Given the description of an element on the screen output the (x, y) to click on. 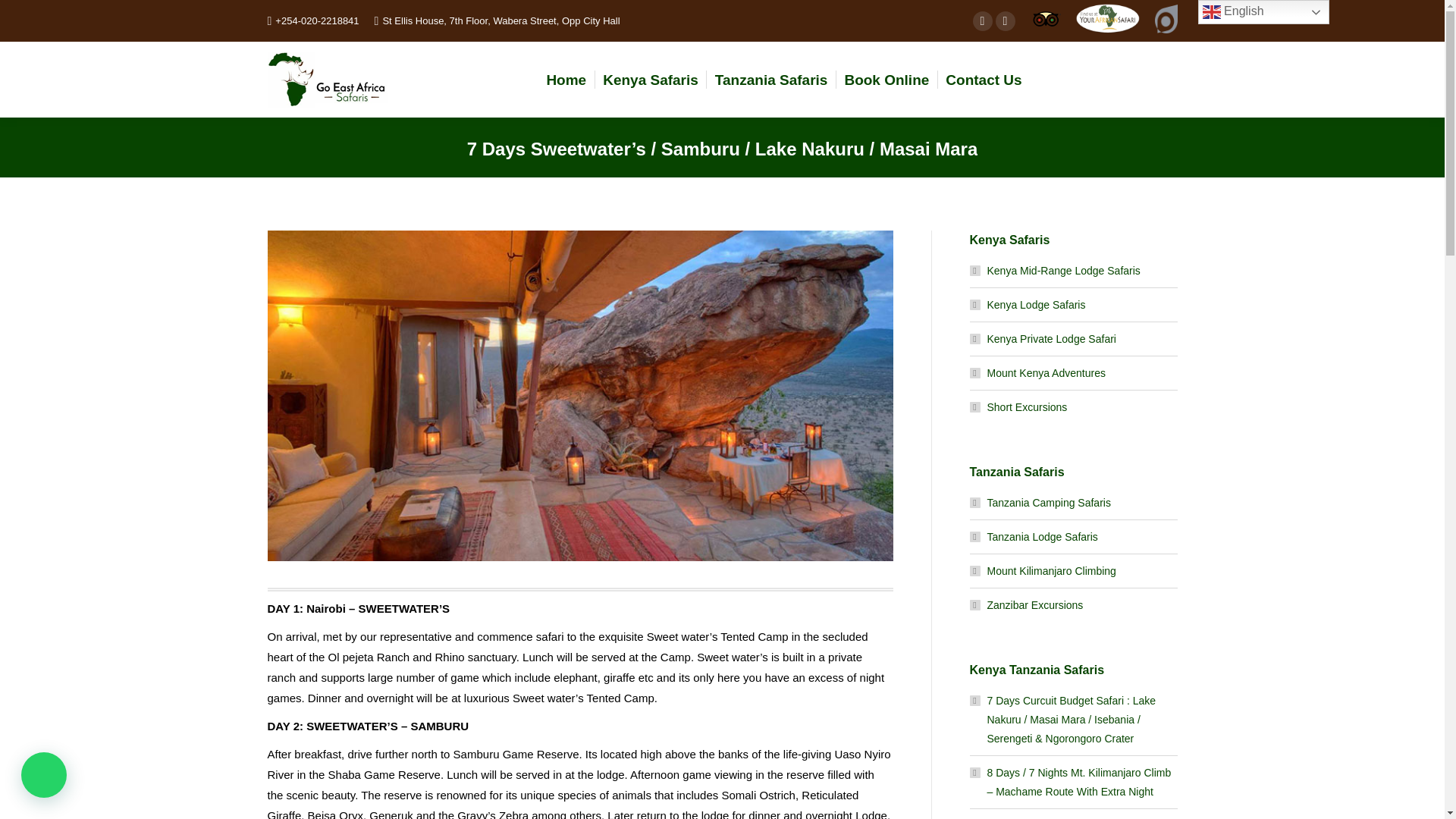
Linkedin (1004, 20)
Kenya Safaris (650, 79)
Facebook (981, 20)
Contact Us (983, 79)
Linkedin (1004, 20)
Book Online (886, 79)
Home (566, 79)
Facebook (981, 20)
Tanzania Safaris (771, 79)
